Given the description of an element on the screen output the (x, y) to click on. 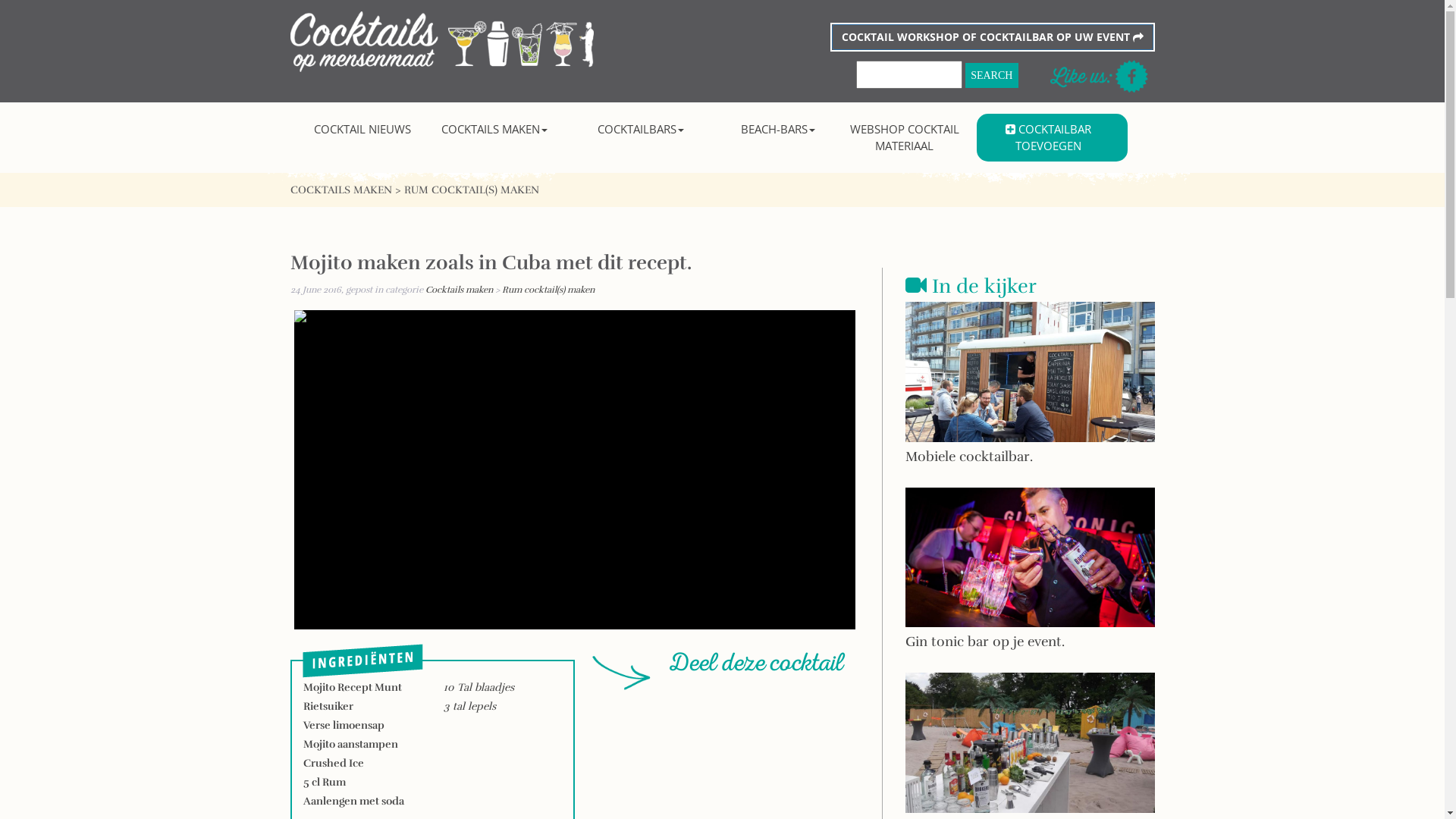
COCKTAILS MAKEN Element type: text (340, 189)
RUM COCKTAIL(S) MAKEN Element type: text (470, 189)
Gin tonic bar op je event. Element type: text (1029, 579)
COCKTAIL WORKSHOP OF COCKTAILBAR OP UW EVENT Element type: text (991, 37)
Mobiele cocktailbar. Element type: text (1029, 393)
WEBSHOP COCKTAIL MATERIAAL Element type: text (904, 137)
Rum cocktail(s) maken Element type: text (548, 289)
COCKTAILBAR TOEVOEGEN Element type: text (1048, 137)
COCKTAIL NIEUWS Element type: text (362, 128)
Cocktails maken Element type: text (458, 289)
Search Element type: text (991, 74)
COCKTAILS MAKEN Element type: text (494, 128)
BEACH-BARS Element type: text (777, 128)
COCKTAILBARS Element type: text (640, 128)
